Given the description of an element on the screen output the (x, y) to click on. 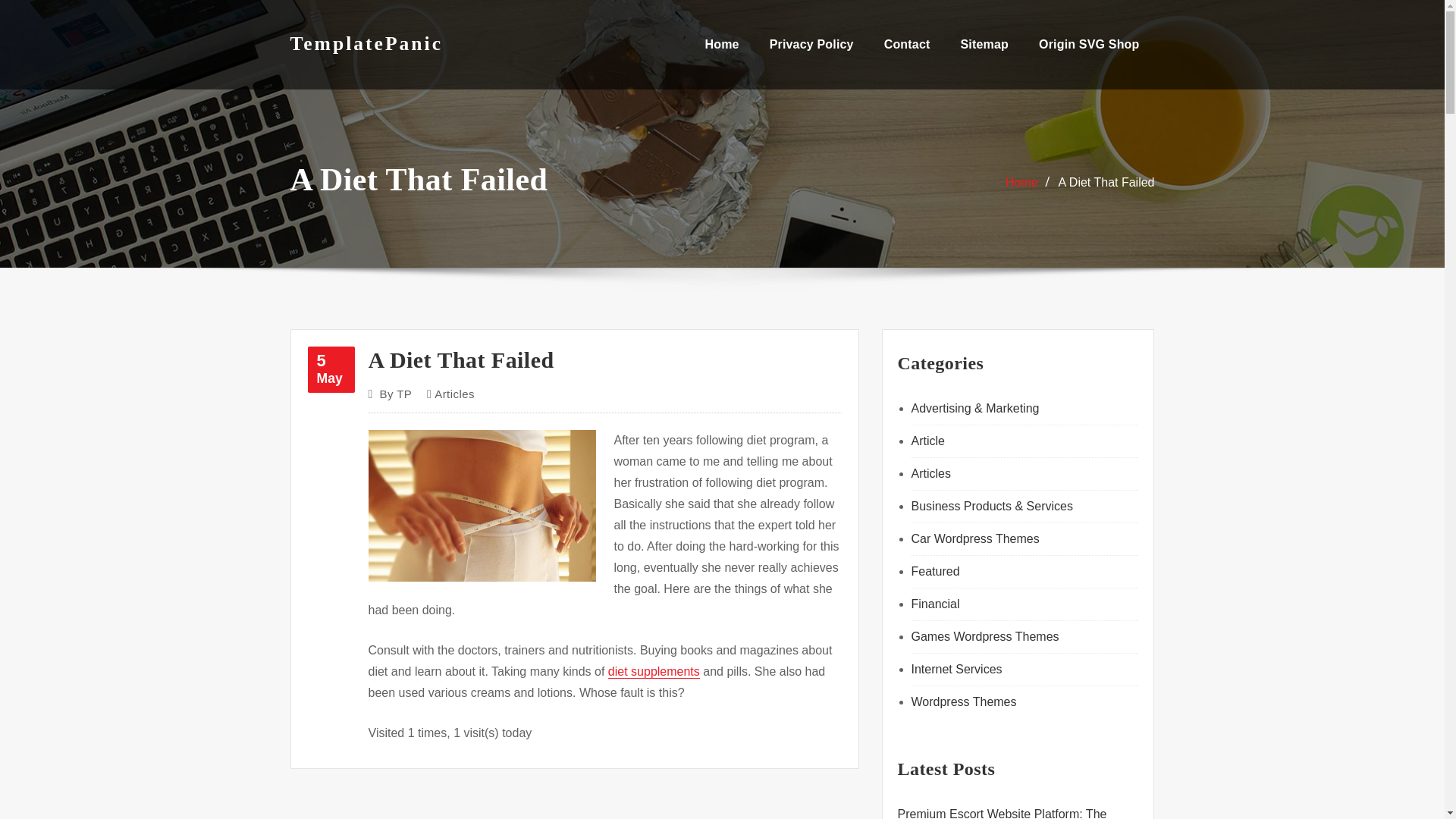
Financial (935, 603)
Privacy Policy (811, 44)
Car Wordpress Themes (975, 538)
Articles (453, 394)
Articles (930, 472)
Featured (935, 571)
diet supplements (330, 369)
your diet failed (654, 671)
Wordpress Themes (481, 505)
